Given the description of an element on the screen output the (x, y) to click on. 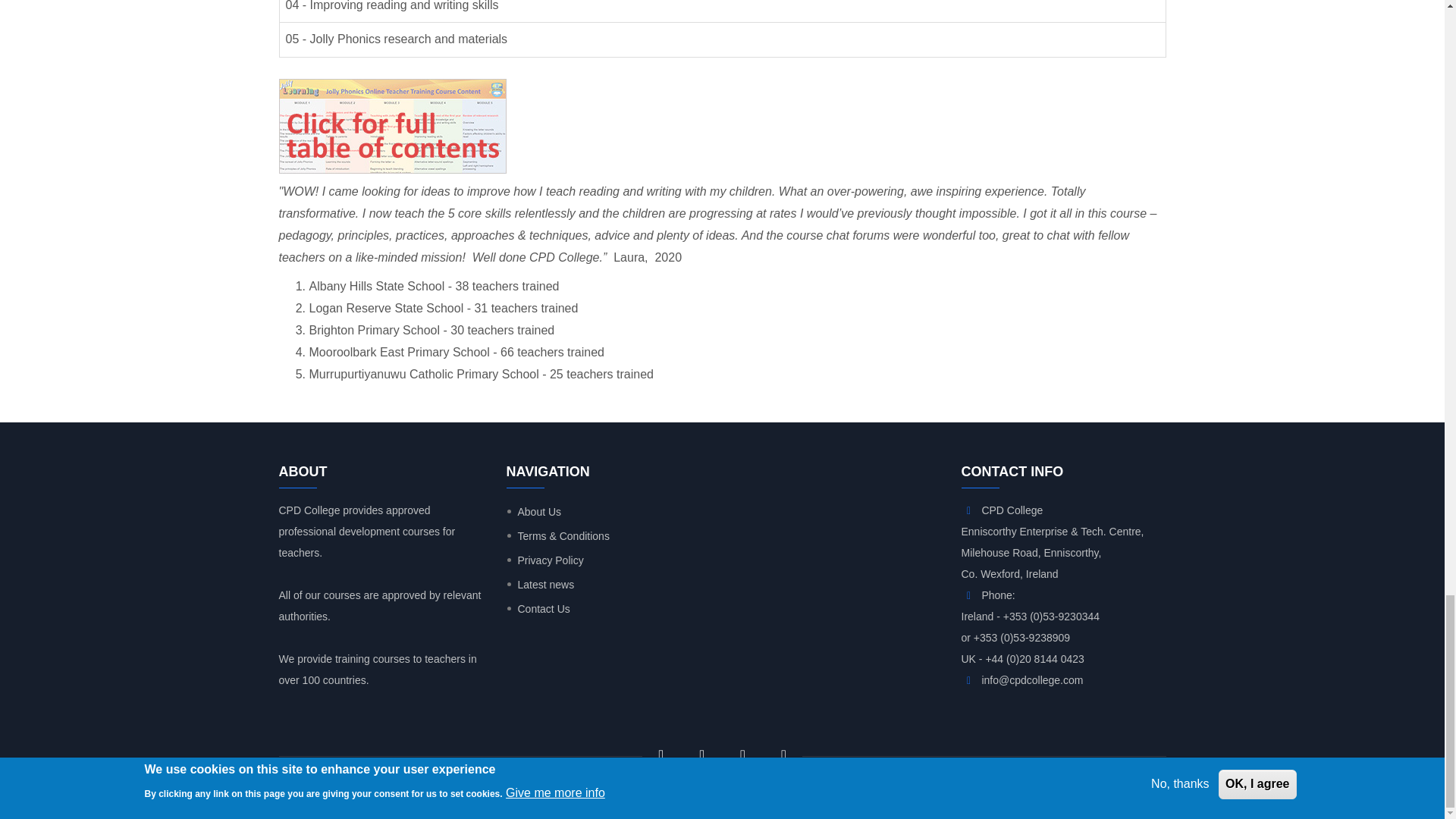
Privacy Policy (544, 560)
About Us (534, 511)
Latest news (540, 584)
Contact Us (538, 608)
